Given the description of an element on the screen output the (x, y) to click on. 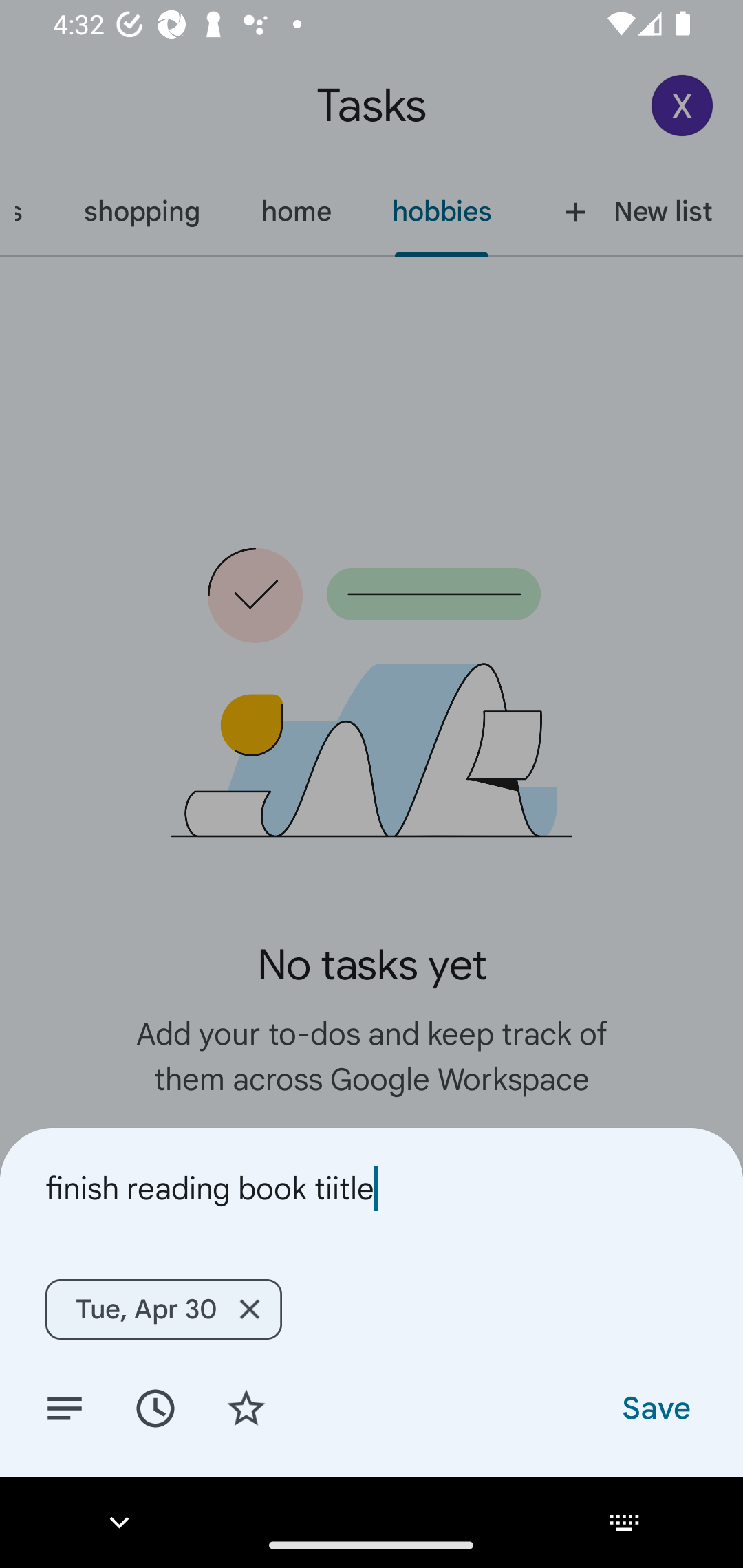
finish reading book tiitle (371, 1188)
Tue, Apr 30 Remove Tue, Apr 30 (163, 1308)
Save (655, 1407)
Add details (64, 1407)
Set date/time (154, 1407)
Add star (245, 1407)
